Given the description of an element on the screen output the (x, y) to click on. 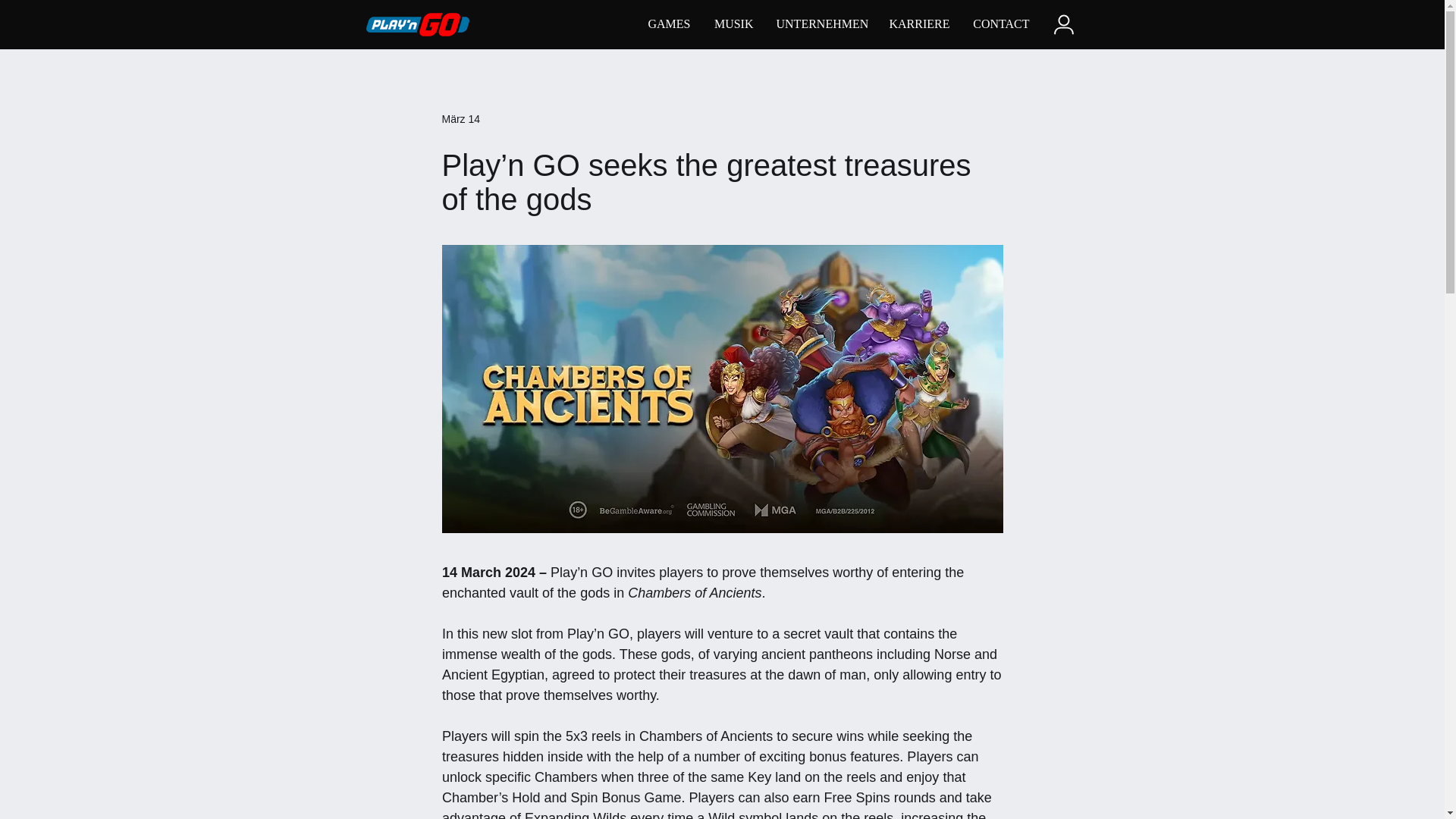
MUSIK (733, 23)
UNTERNEHMEN (820, 23)
GAMES (667, 23)
KARRIERE (918, 23)
CONTACT (999, 23)
